Given the description of an element on the screen output the (x, y) to click on. 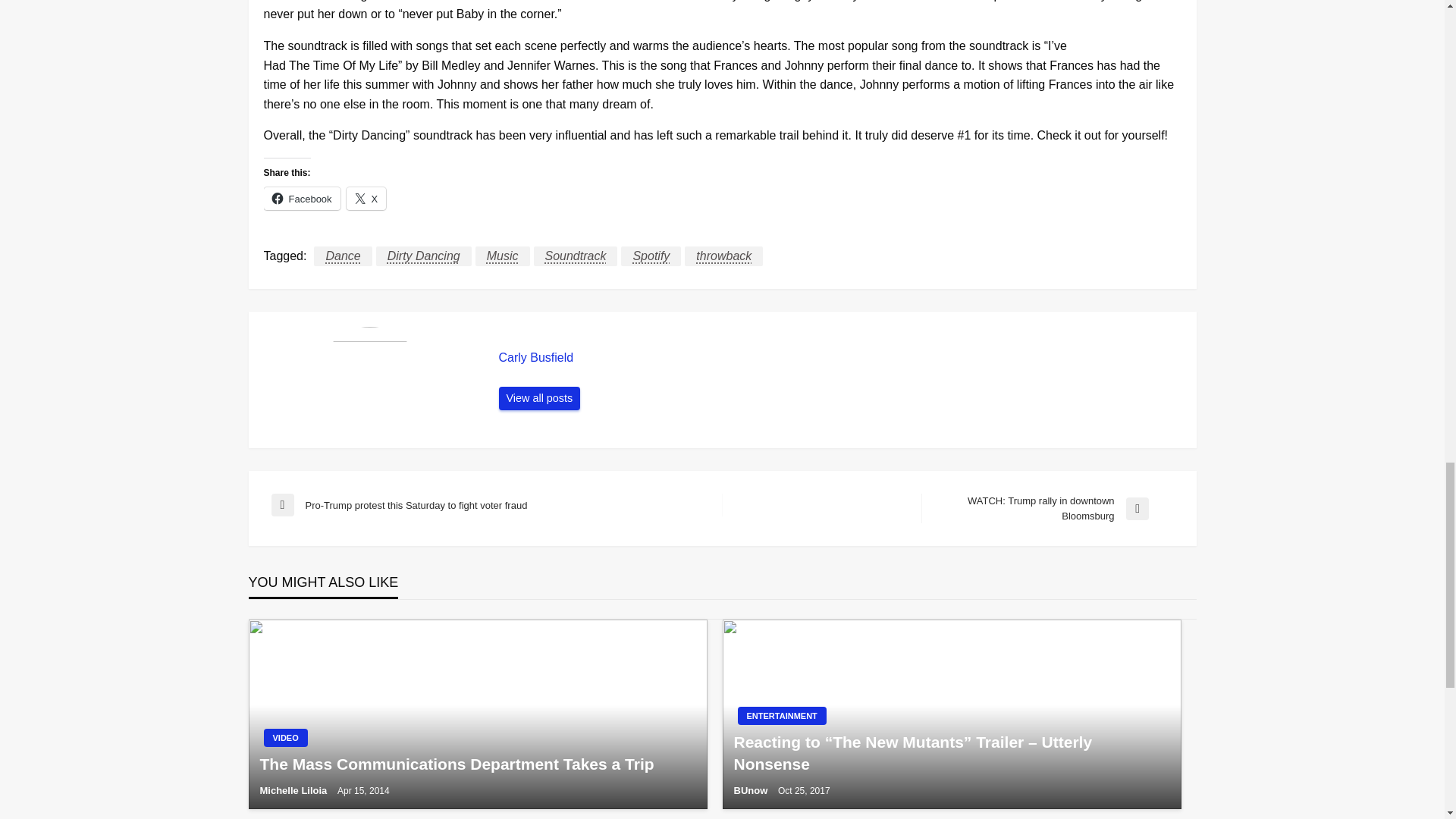
Dance (342, 256)
Click to share on Facebook (301, 198)
Soundtrack (575, 256)
Music (502, 256)
Carly Busfield (839, 357)
X (366, 198)
Spotify (651, 256)
Dirty Dancing (423, 256)
Click to share on X (366, 198)
Carly Busfield (539, 398)
Facebook (301, 198)
